Given the description of an element on the screen output the (x, y) to click on. 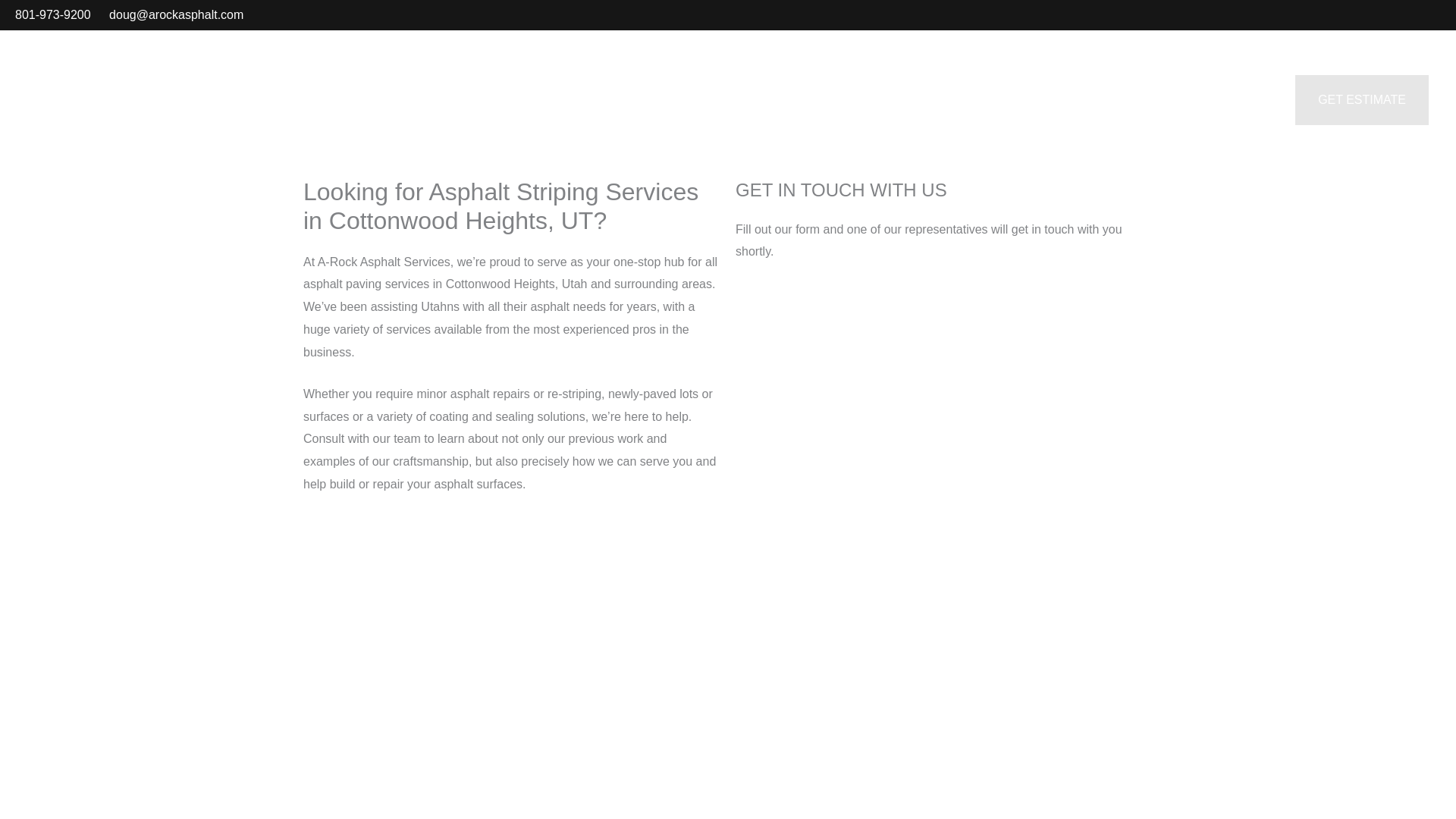
Contact (1192, 100)
Home (952, 100)
Blog (1255, 100)
Services (1107, 100)
Portfolio (1021, 100)
801-973-9200 (52, 14)
GET ESTIMATE (1361, 100)
